Given the description of an element on the screen output the (x, y) to click on. 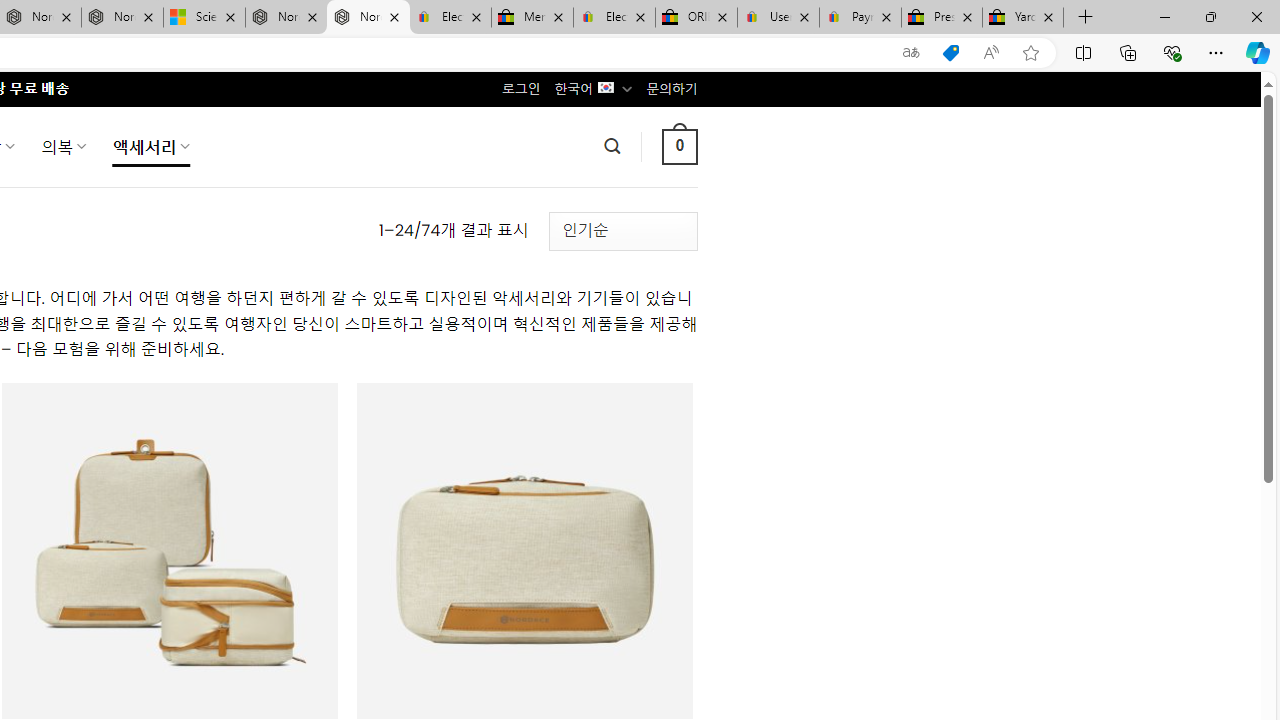
Nordace - Summer Adventures 2024 (285, 17)
Press Room - eBay Inc. (941, 17)
This site has coupons! Shopping in Microsoft Edge (950, 53)
 0  (679, 146)
Payments Terms of Use | eBay.com (860, 17)
